Given the description of an element on the screen output the (x, y) to click on. 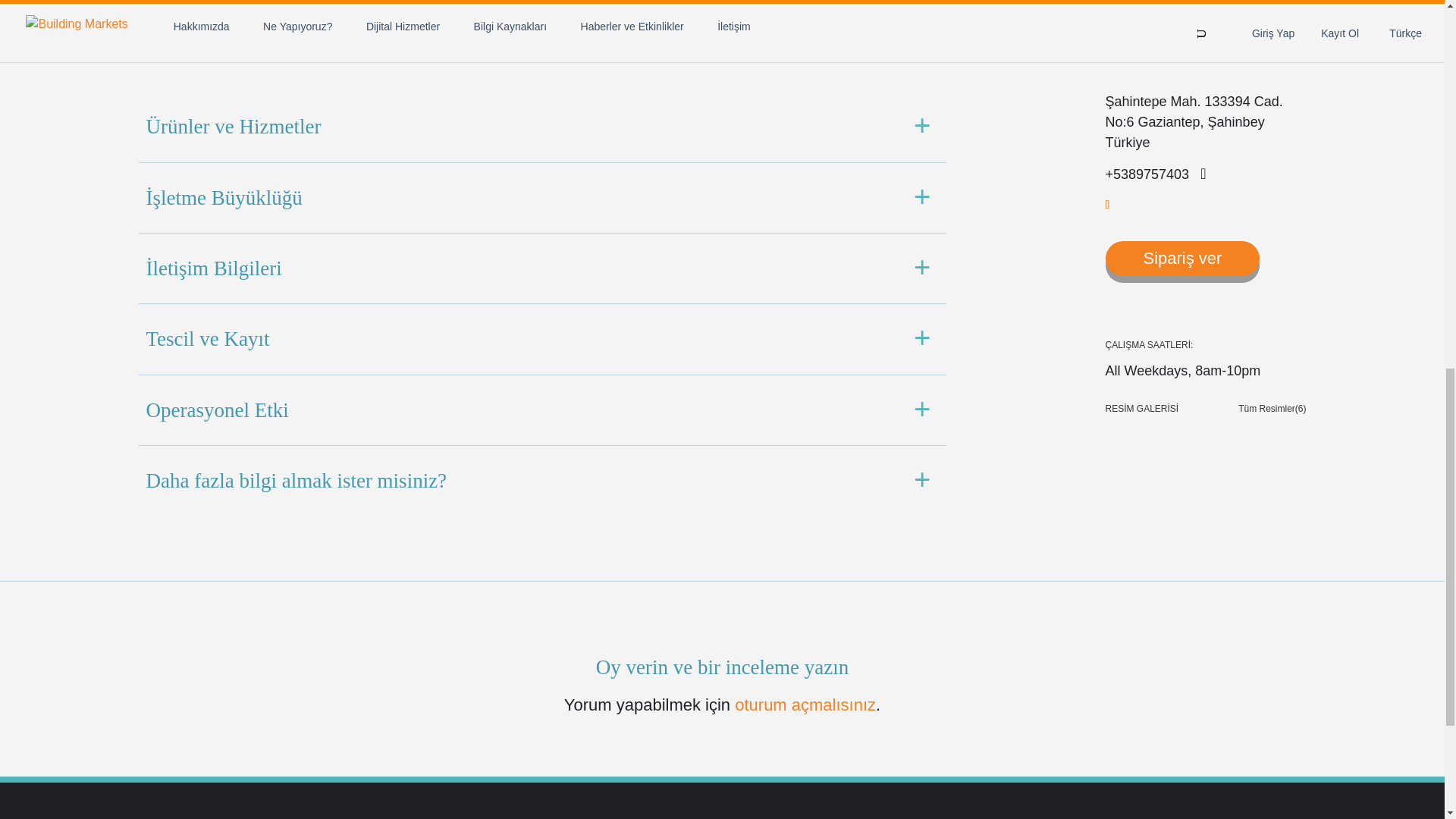
Yorum yaz (186, 29)
Favorilere ekle (378, 30)
